Given the description of an element on the screen output the (x, y) to click on. 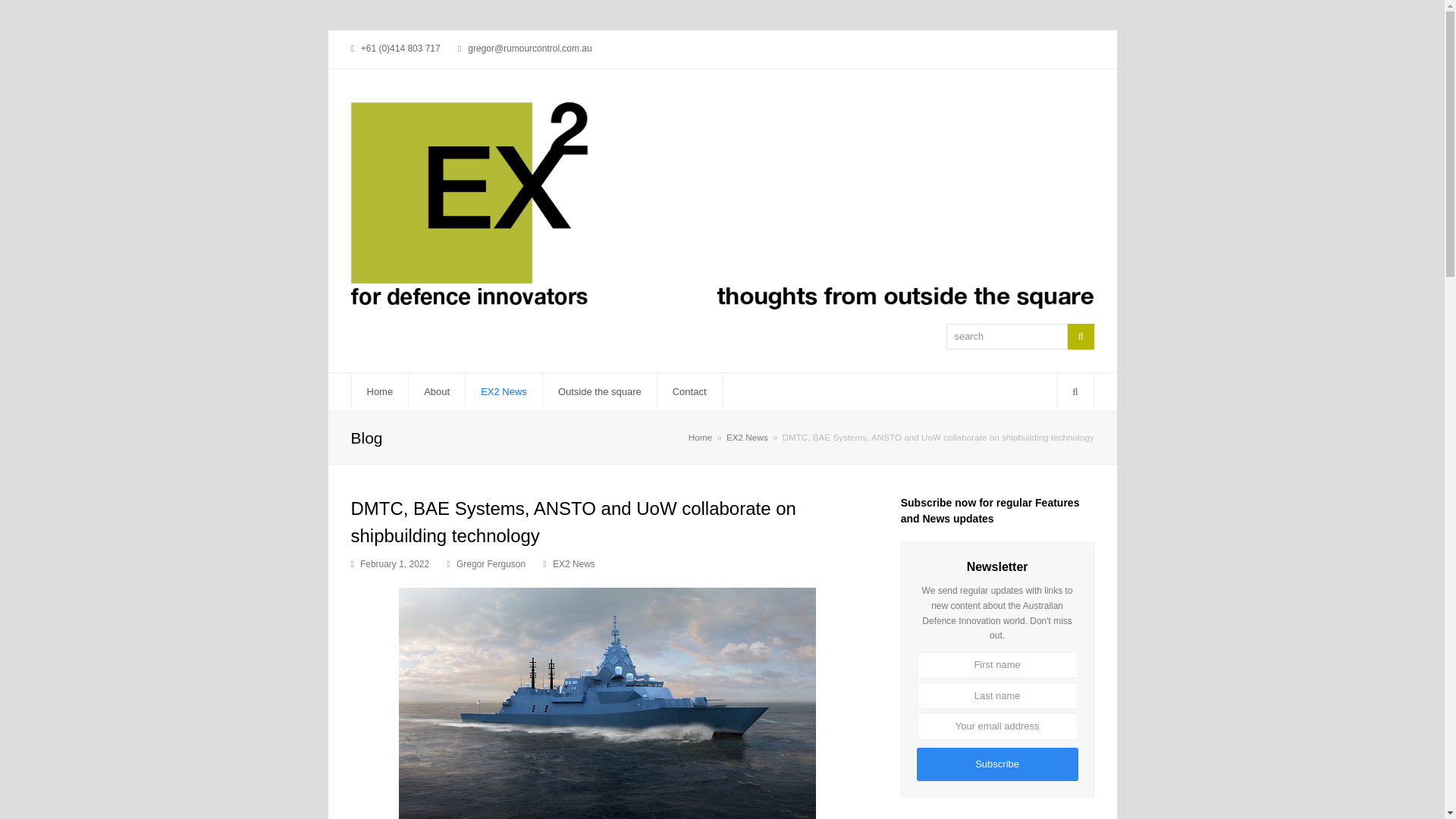
Subscribe (997, 764)
Gregor Ferguson (491, 563)
Outside the square (599, 392)
Home (380, 392)
Home (699, 437)
EX2 News (574, 563)
Posts by Gregor Ferguson (491, 563)
Search (1080, 336)
Contact (690, 392)
EX2 News (747, 437)
